Given the description of an element on the screen output the (x, y) to click on. 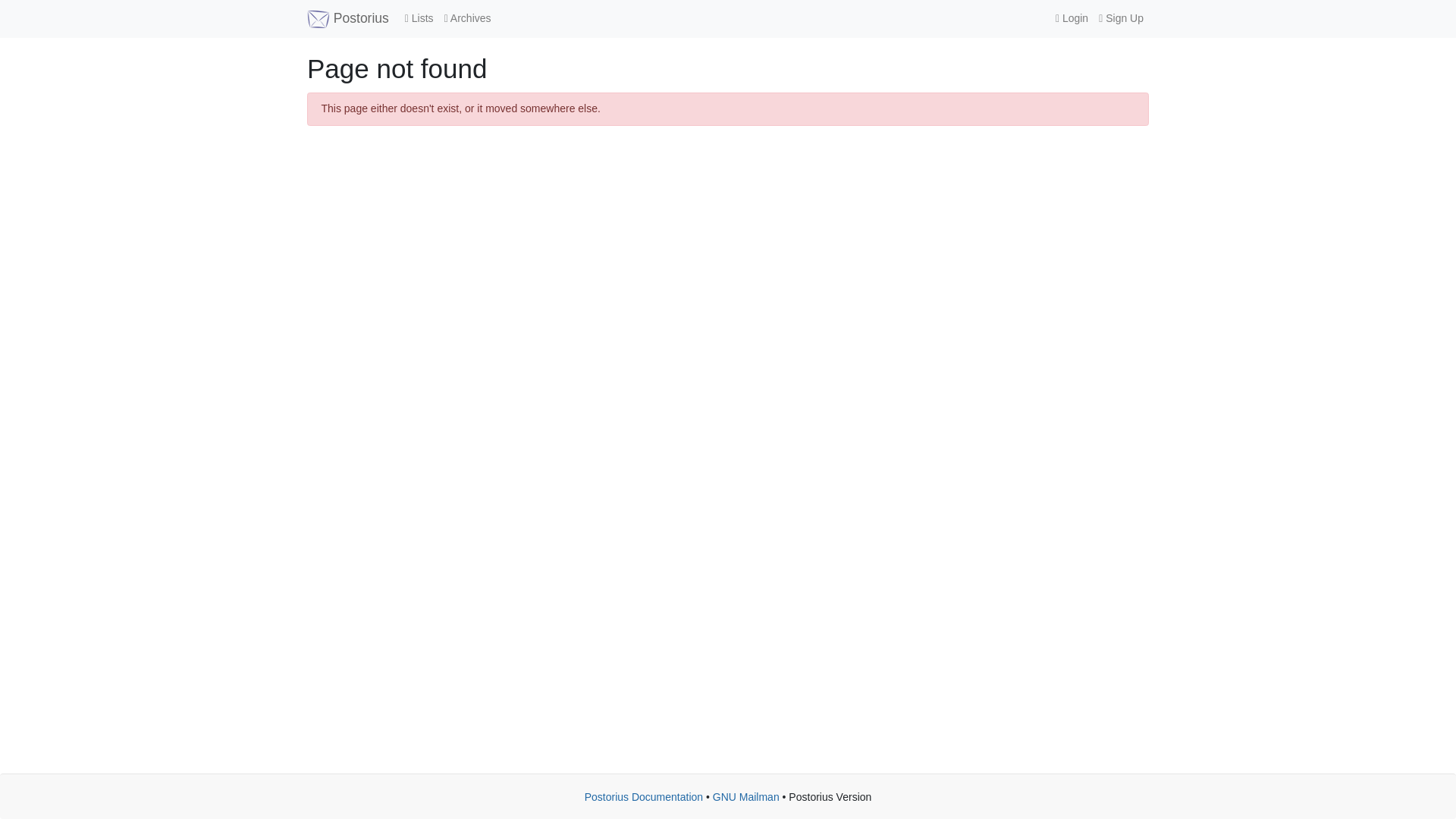
Lists (418, 17)
Postorius (347, 18)
Sign Up (1120, 17)
Login (1071, 17)
Archives (467, 17)
